Given the description of an element on the screen output the (x, y) to click on. 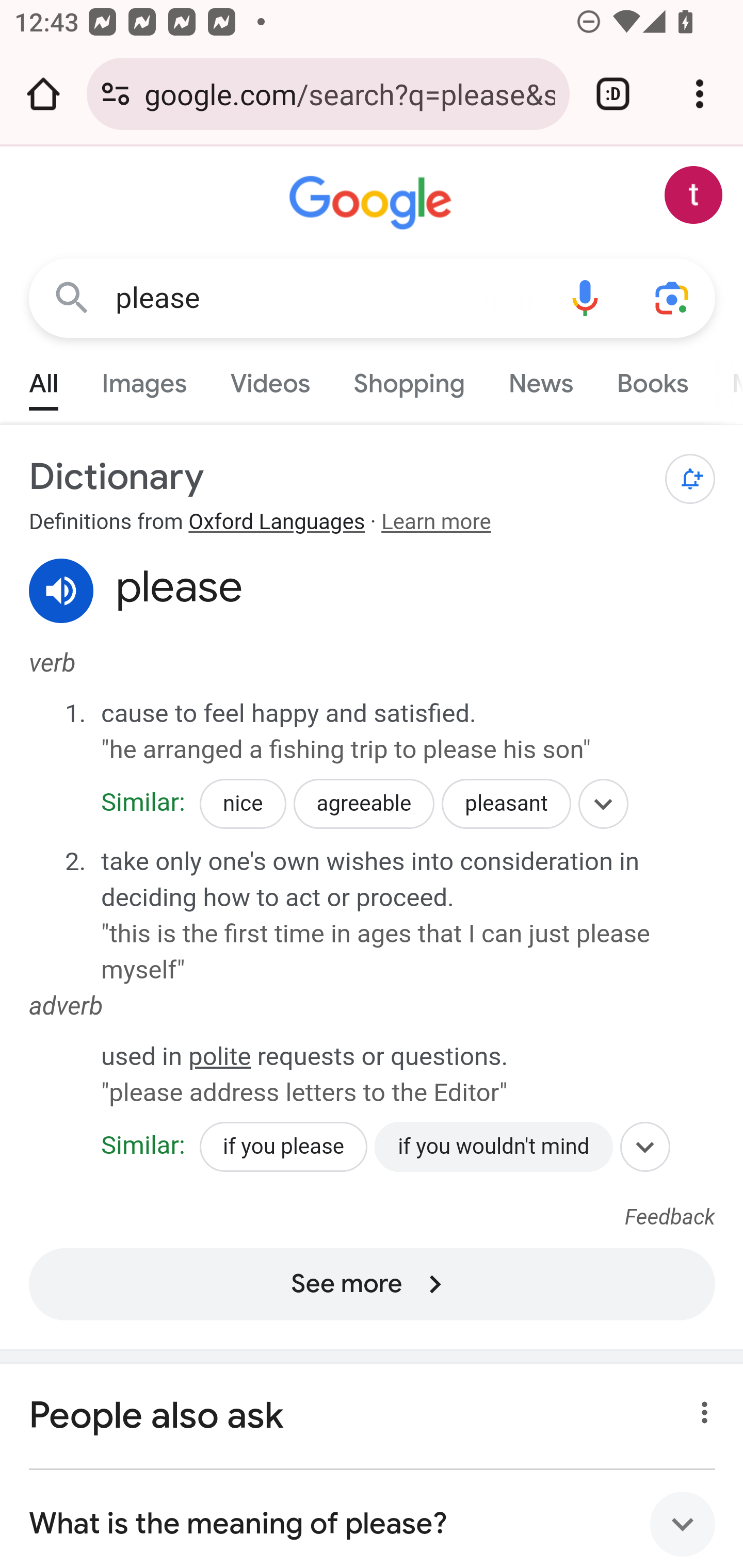
Open the home page (43, 93)
Connection is secure (115, 93)
Switch or close tabs (612, 93)
Customize and control Google Chrome (699, 93)
Google (372, 203)
Google Search (71, 296)
Search using your camera or photos (672, 296)
please (328, 297)
Images (144, 378)
Videos (270, 378)
Shopping (408, 378)
News (540, 378)
Books (652, 378)
Get notifications about Word of the day (690, 478)
Oxford Languages (276, 522)
Learn more (435, 522)
 Listen  (61, 591)
nice (242, 804)
agreeable (363, 804)
pleasant (506, 804)
polite (219, 1056)
if you please (283, 1146)
Feedback (669, 1217)
See more (372, 1283)
About this result (698, 1406)
What is the meaning of please? (372, 1518)
